Given the description of an element on the screen output the (x, y) to click on. 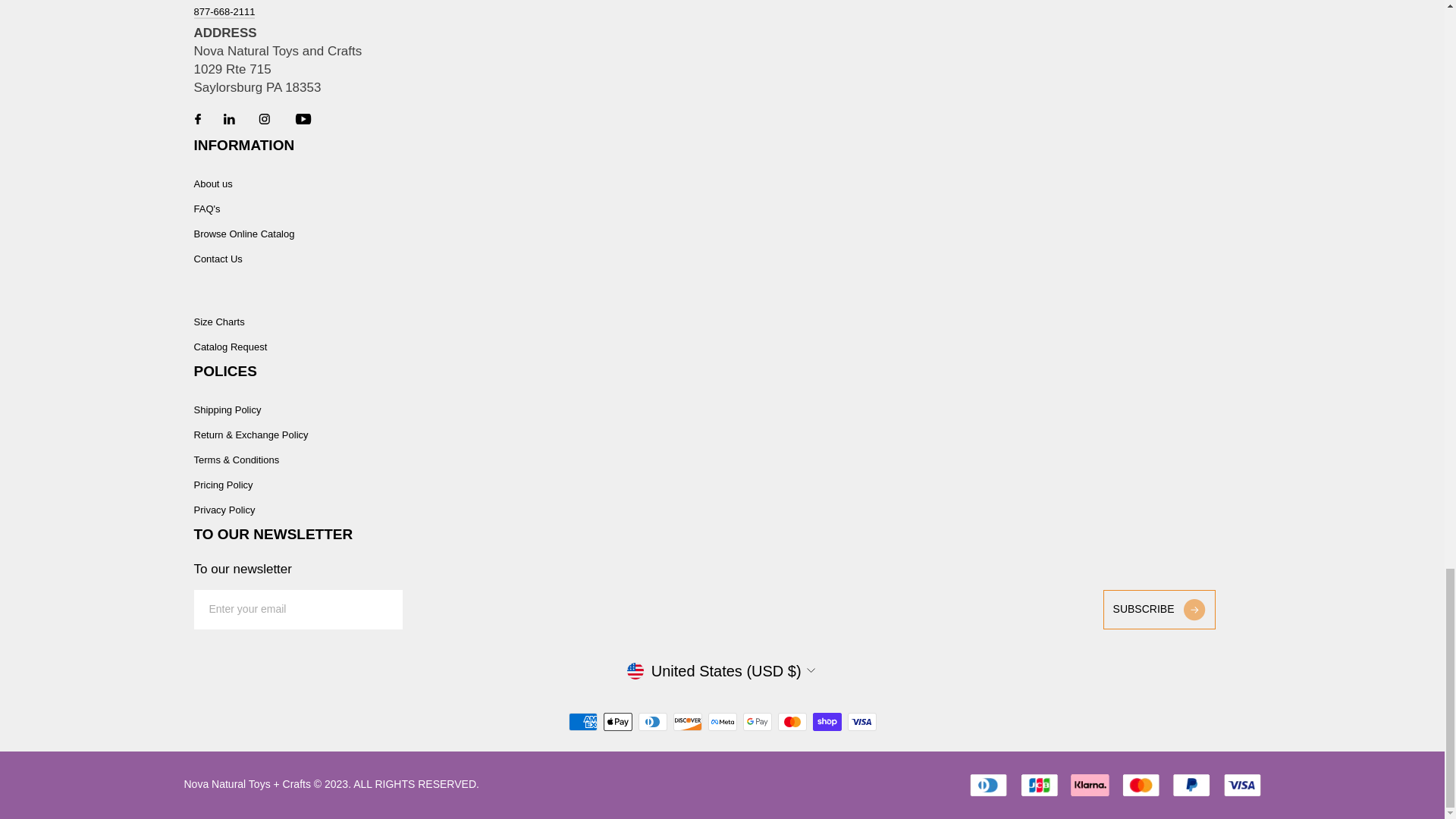
tel:877-668-2111 (224, 11)
American Express (582, 721)
